Given the description of an element on the screen output the (x, y) to click on. 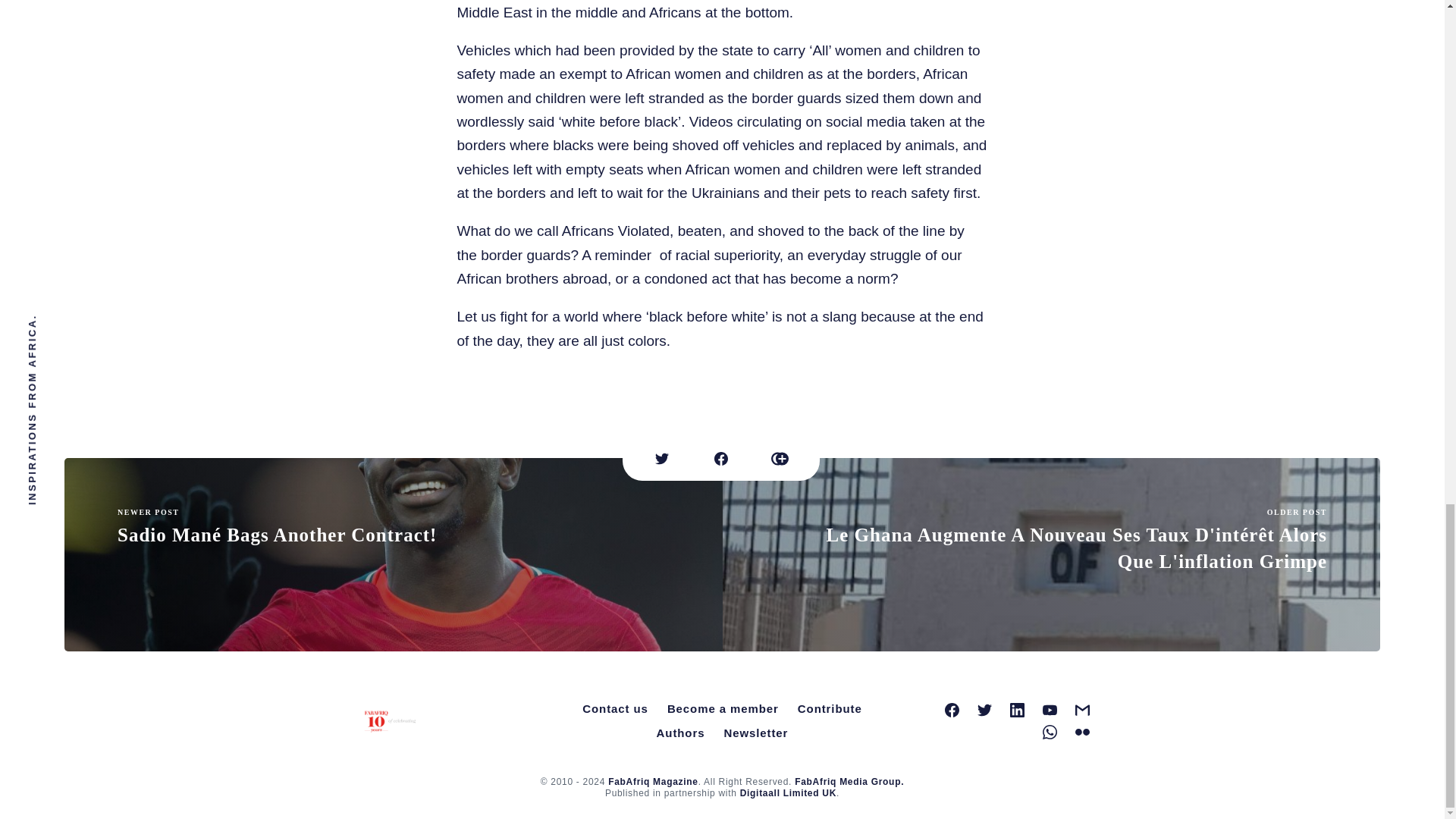
Authors (681, 733)
Contribute (829, 708)
Newsletter (755, 733)
Become a member (722, 708)
FabAfriq Magazine (653, 781)
Digitaall Limited UK (787, 792)
Contact us (615, 708)
FabAfriq Media Group. (849, 781)
FabAfriq Media Group (849, 781)
